Given the description of an element on the screen output the (x, y) to click on. 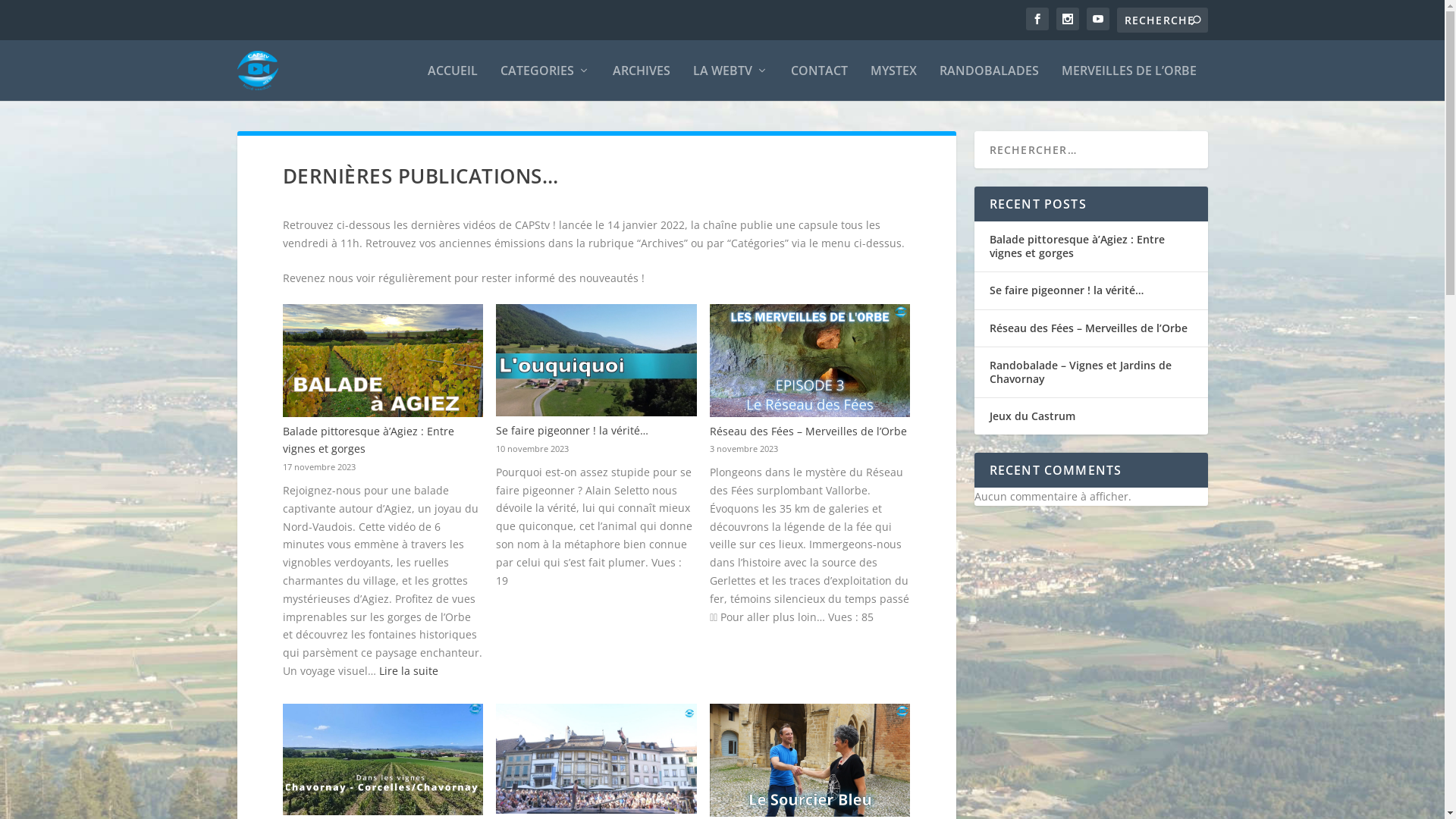
CATEGORIES Element type: text (544, 82)
ARCHIVES Element type: text (641, 82)
Jeux du Castrum Element type: text (1031, 415)
Recherche pour : Element type: hover (1161, 19)
RANDOBALADES Element type: text (988, 82)
CONTACT Element type: text (818, 82)
ACCUEIL Element type: text (452, 82)
MYSTEX Element type: text (893, 82)
LA WEBTV Element type: text (730, 82)
